Given the description of an element on the screen output the (x, y) to click on. 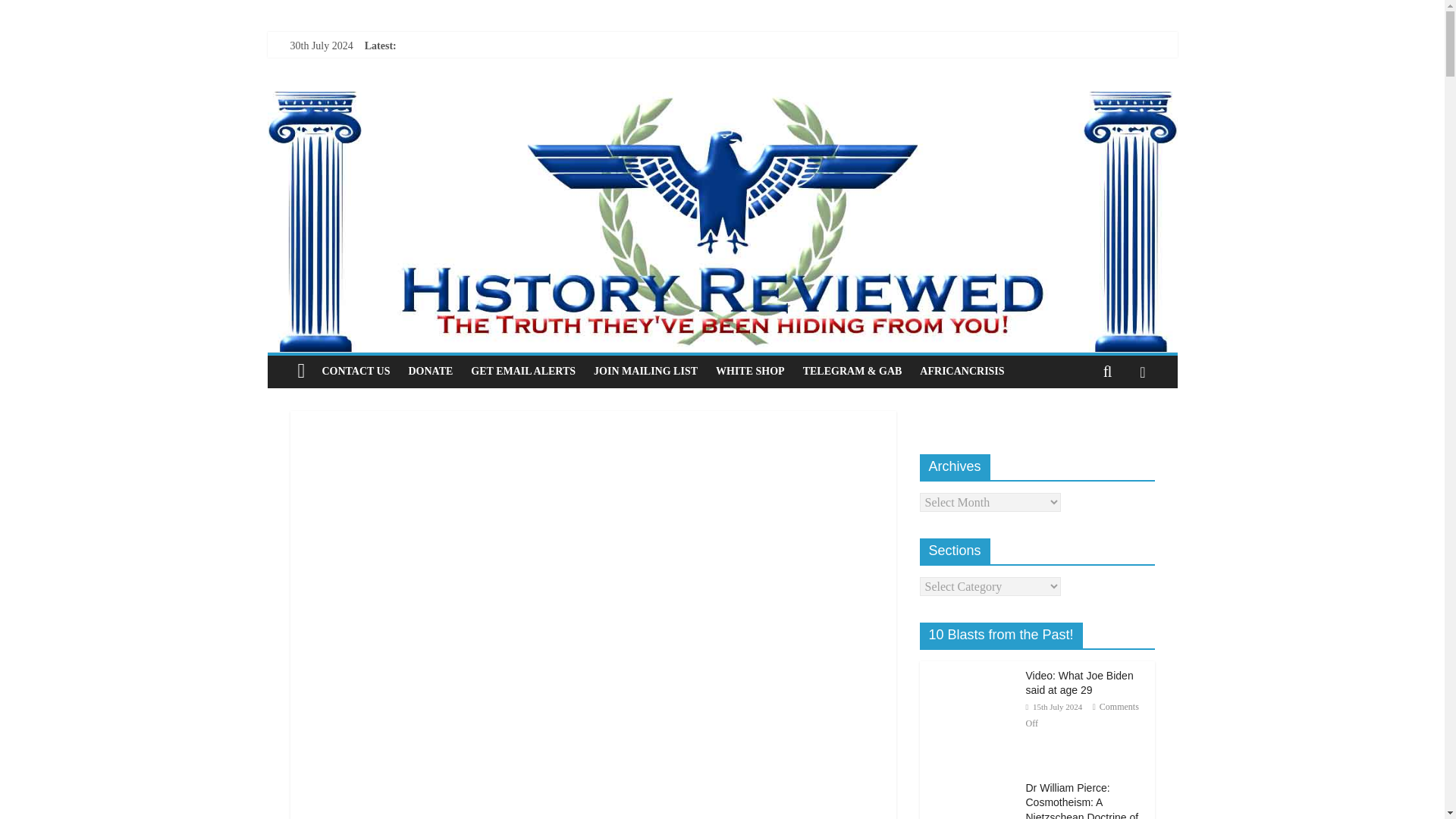
JOIN MAILING LIST (645, 371)
AFRICANCRISIS (962, 371)
Video: What Joe Biden said at age 29 (1078, 682)
GET EMAIL ALERTS (523, 371)
WHITE SHOP (749, 371)
CONTACT US (355, 371)
DONATE (429, 371)
